Given the description of an element on the screen output the (x, y) to click on. 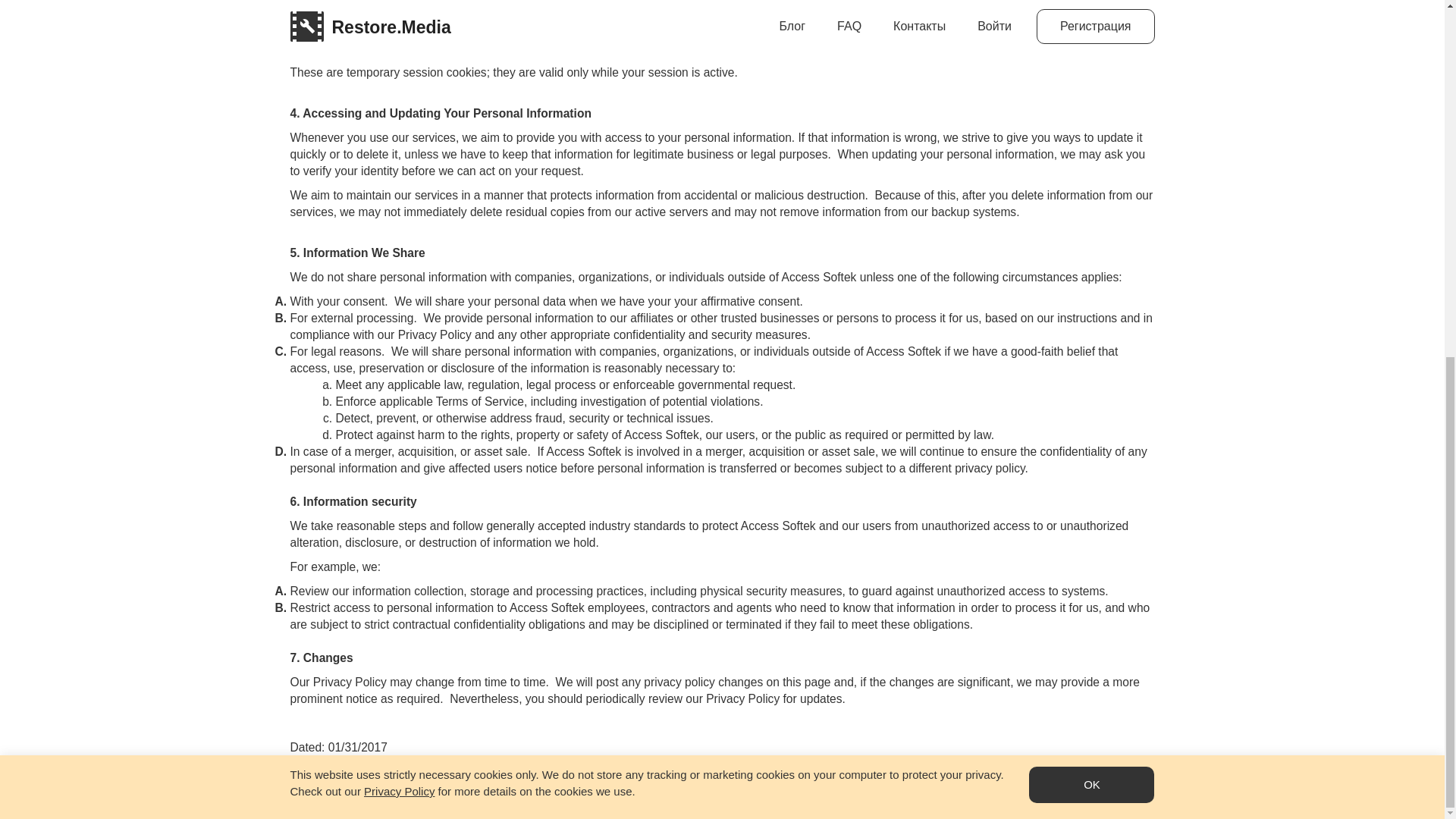
Privacy Policy (398, 163)
OK (1091, 156)
